Given the description of an element on the screen output the (x, y) to click on. 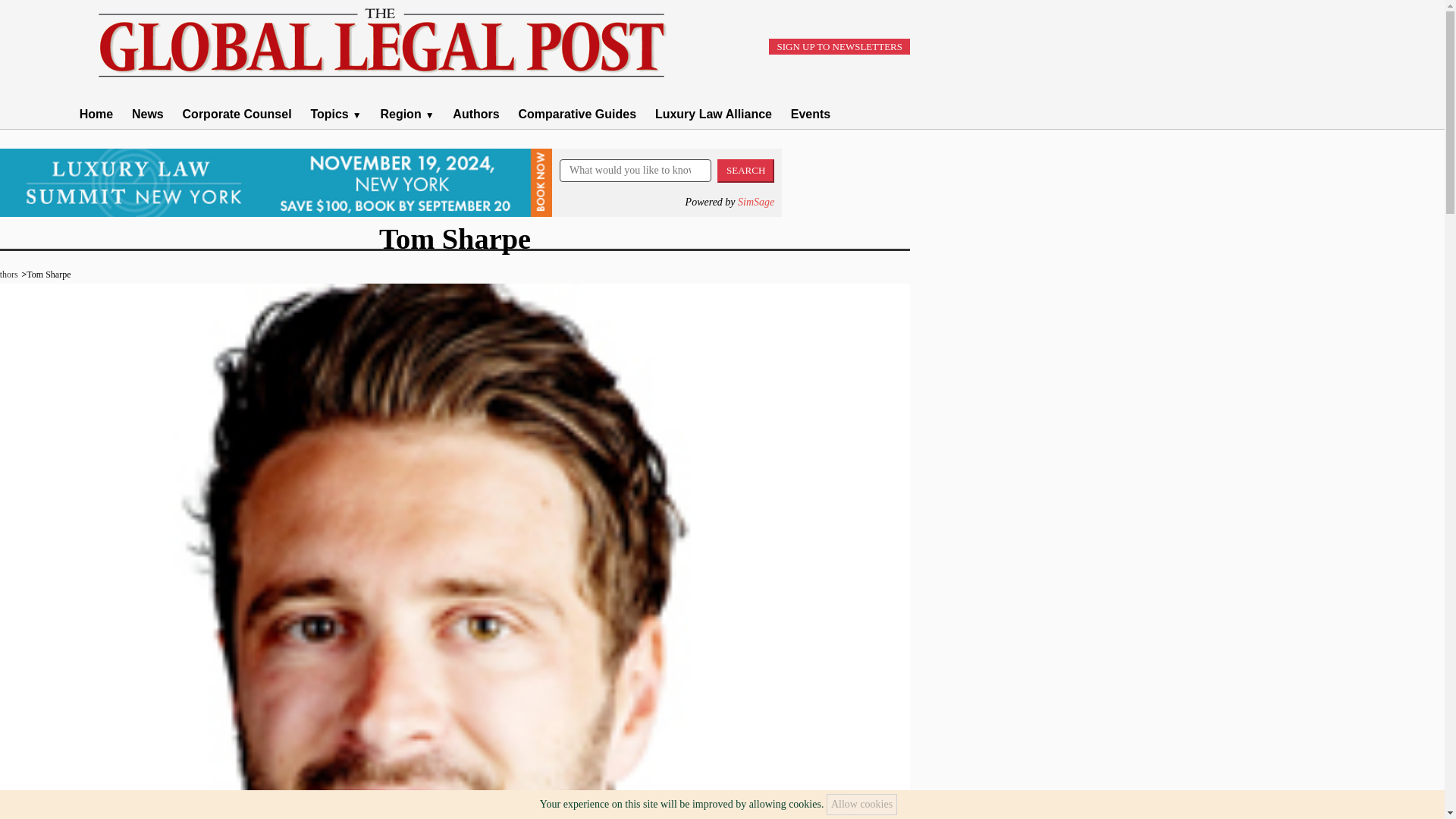
Authors (475, 113)
Global Legal Post Home (96, 113)
Regional legal news (406, 113)
Comparative Guides (577, 113)
Corporate counsel (335, 113)
Corporate Counsel (237, 113)
Topics (335, 113)
Authors (475, 113)
SimSage (756, 202)
SIGN UP TO NEWSLETTERS (839, 45)
